Given the description of an element on the screen output the (x, y) to click on. 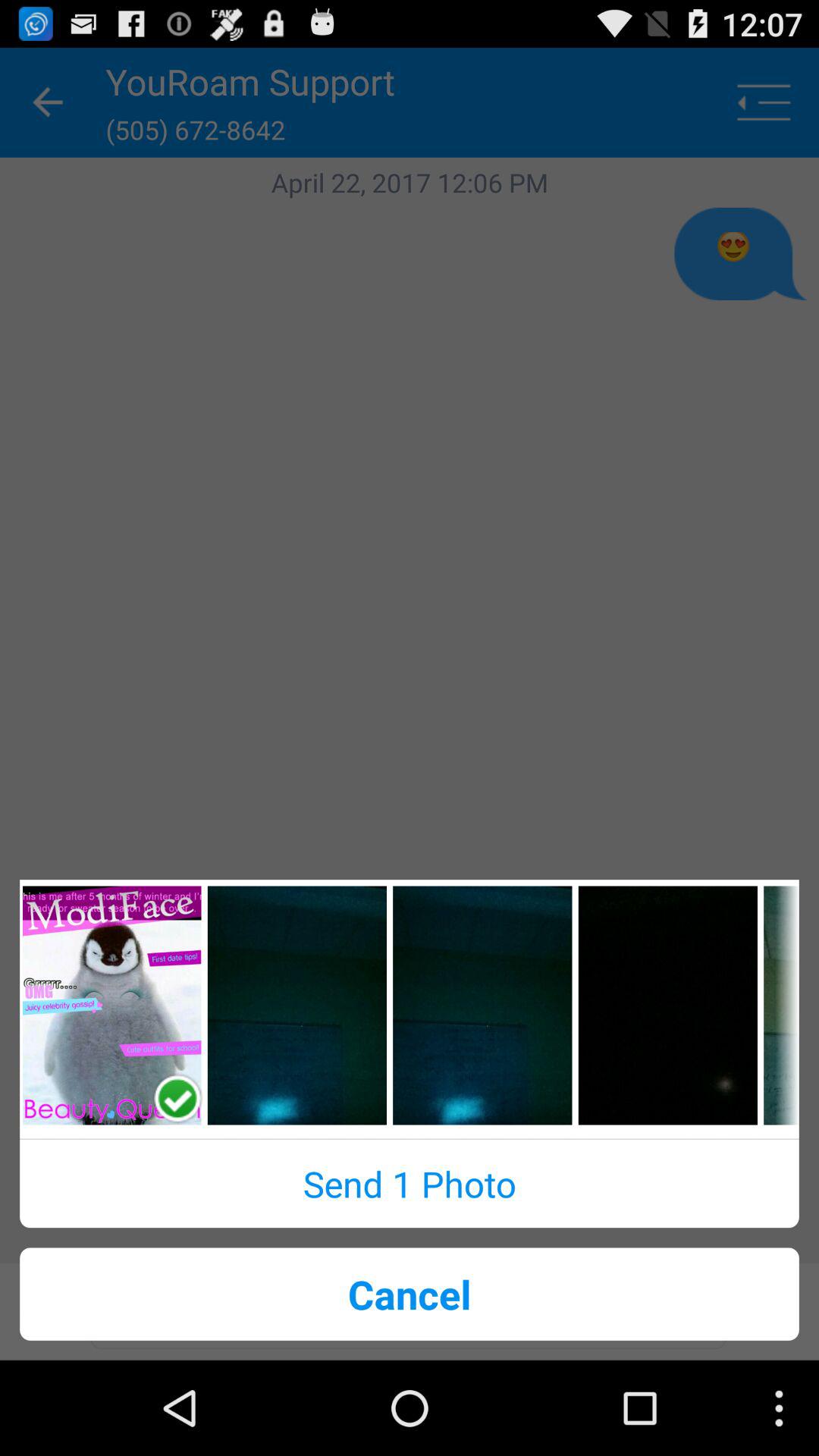
select a photo (111, 1005)
